Given the description of an element on the screen output the (x, y) to click on. 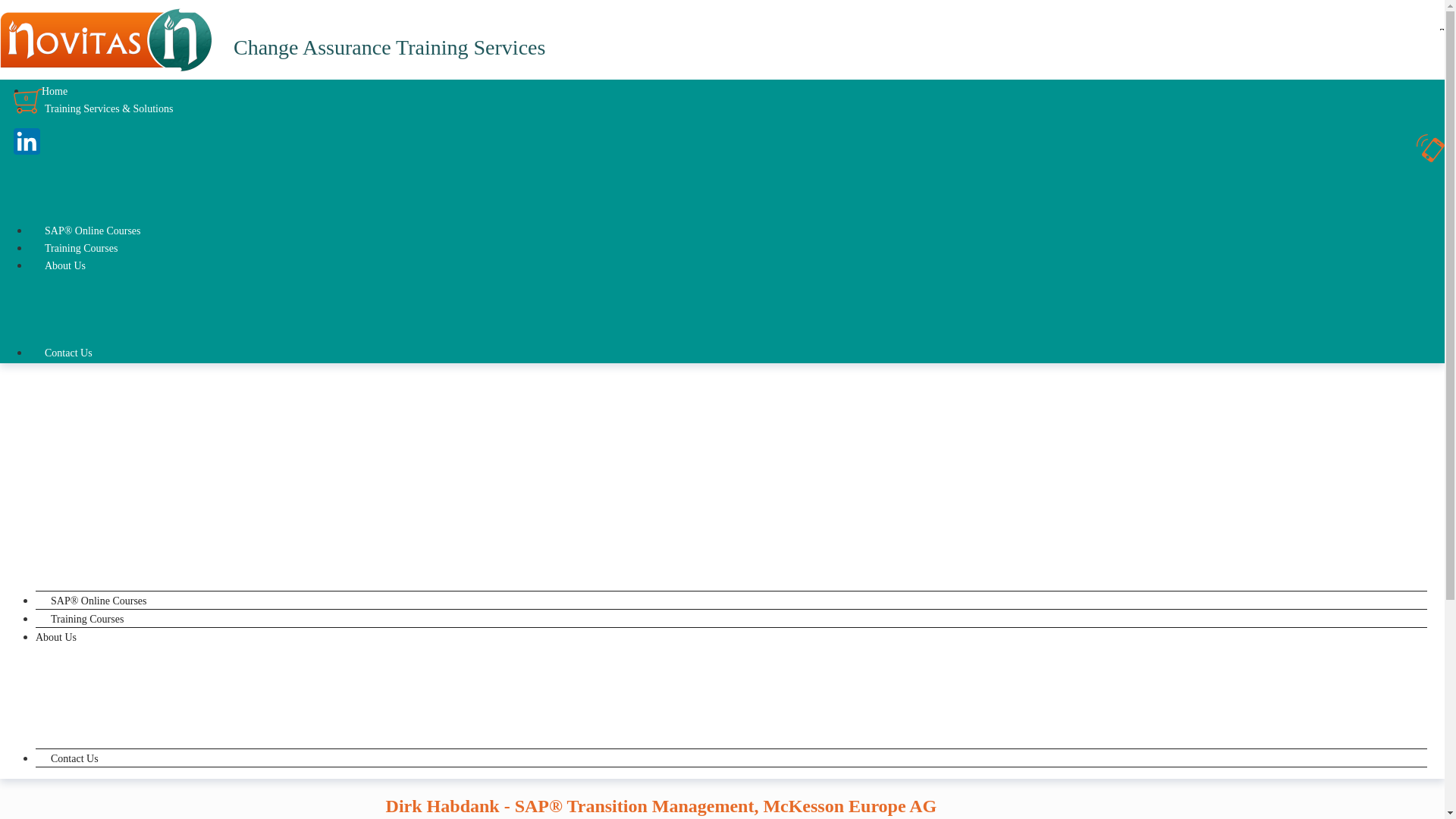
About Us (64, 265)
0 (20, 108)
Training Courses (80, 248)
Sign In (31, 18)
Home (60, 128)
0 (30, 110)
Contact Us (68, 352)
Home (54, 91)
